Given the description of an element on the screen output the (x, y) to click on. 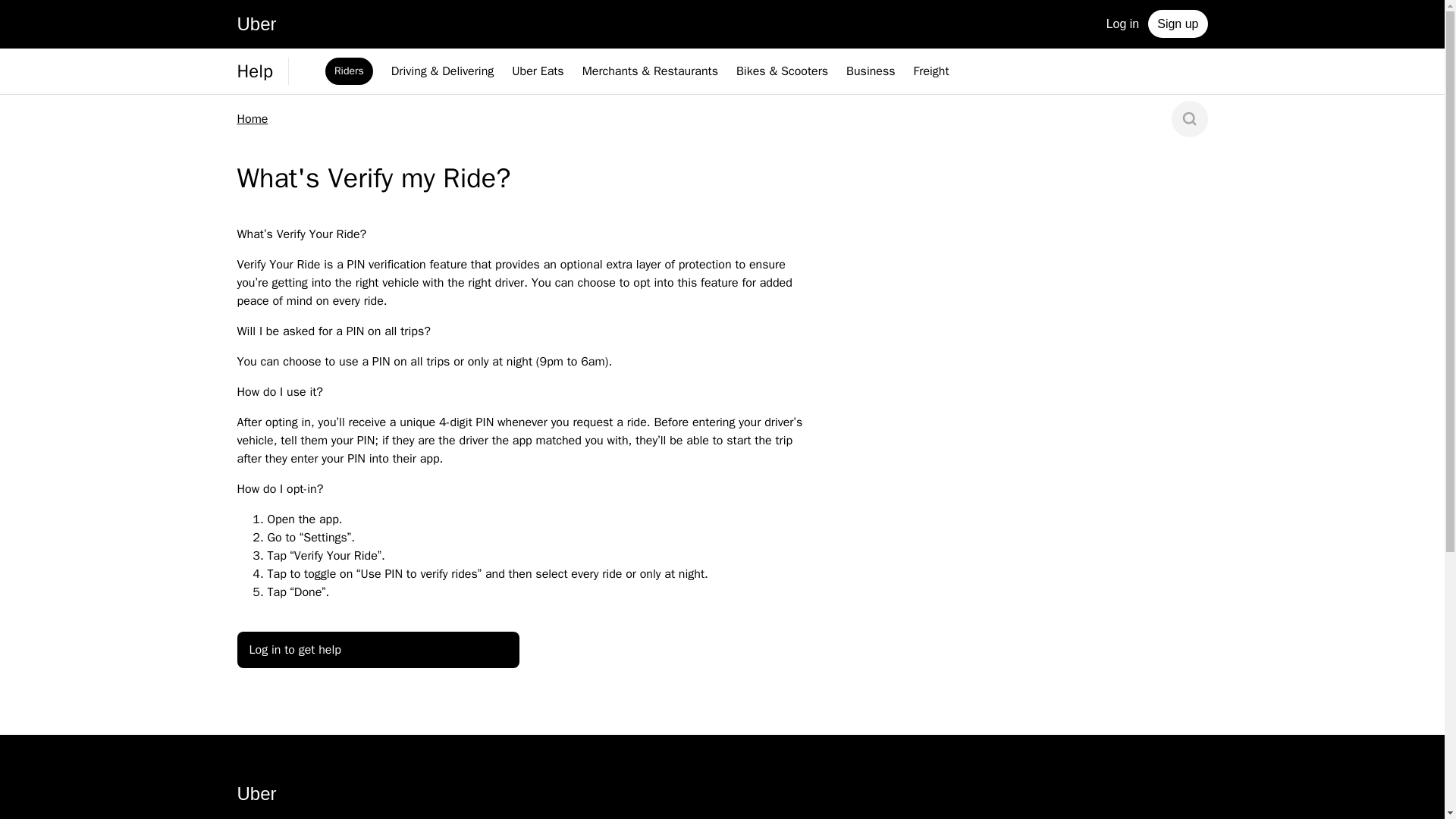
Log in (1122, 23)
Business (870, 70)
Uber Eats (537, 70)
Log in to get help (376, 649)
Home (251, 118)
Uber (255, 25)
Freight (931, 70)
Help (253, 70)
Uber (255, 795)
Riders (348, 71)
